Given the description of an element on the screen output the (x, y) to click on. 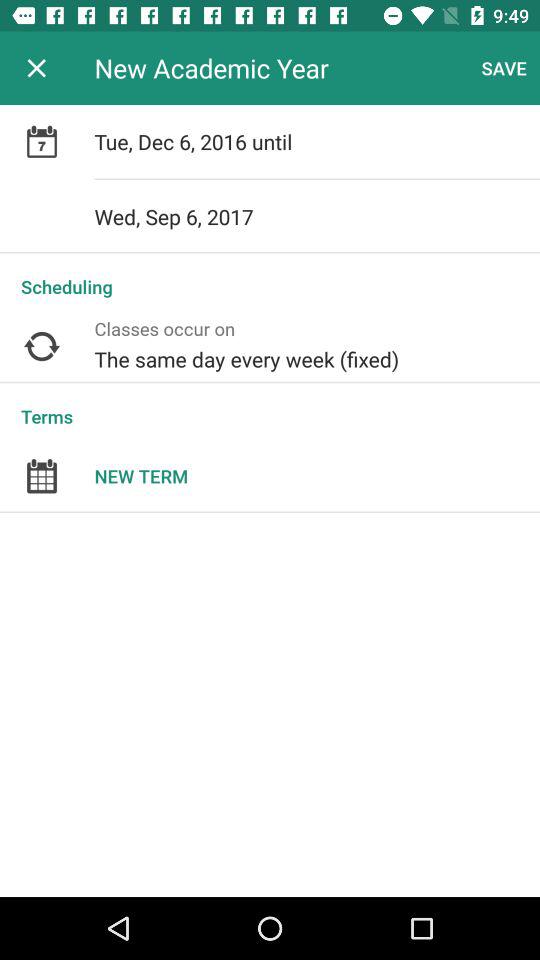
scroll to new term item (317, 476)
